Given the description of an element on the screen output the (x, y) to click on. 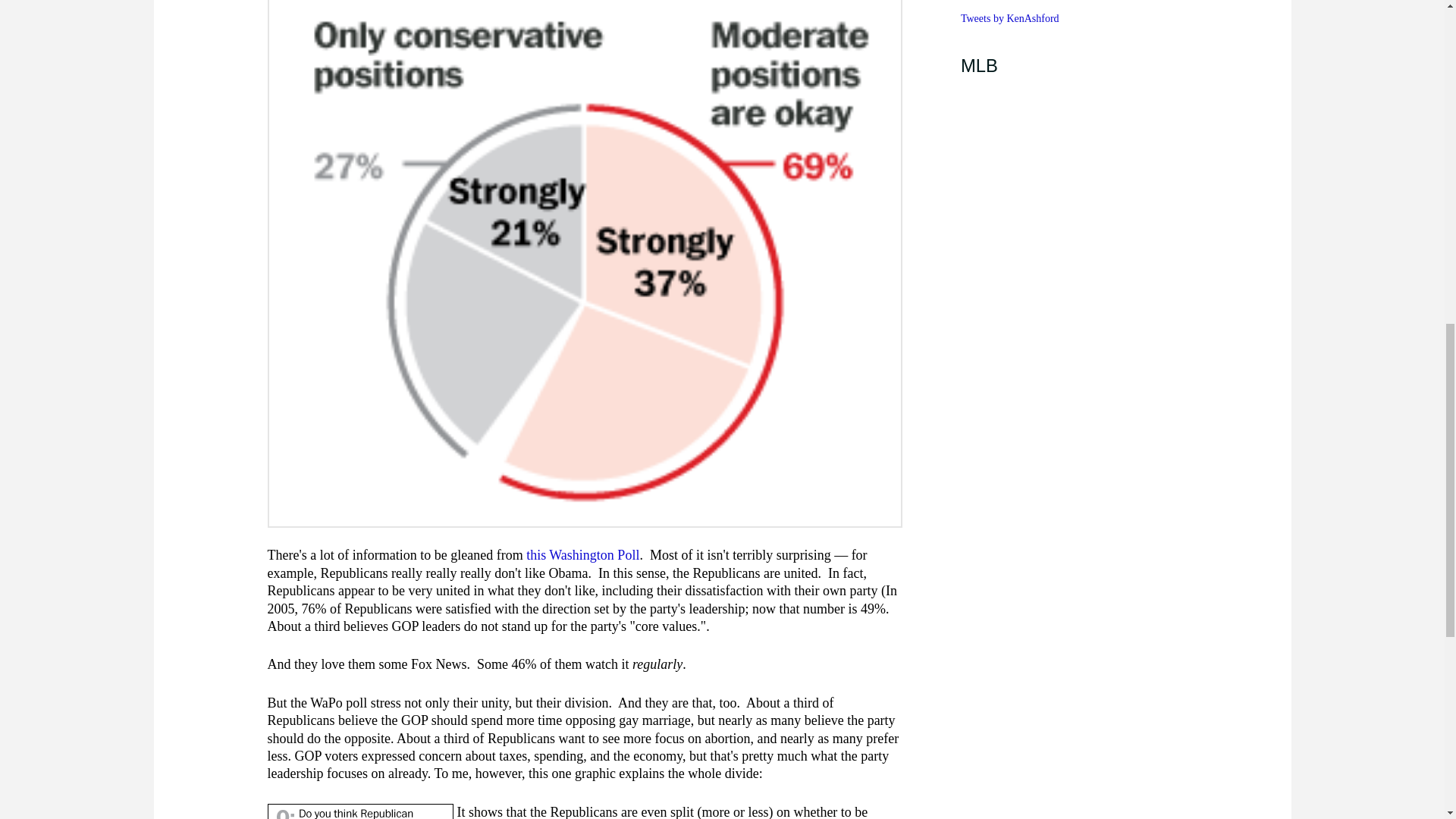
Dividedgop (359, 811)
Tweets by KenAshford (1009, 18)
this Washington Poll (582, 554)
